Given the description of an element on the screen output the (x, y) to click on. 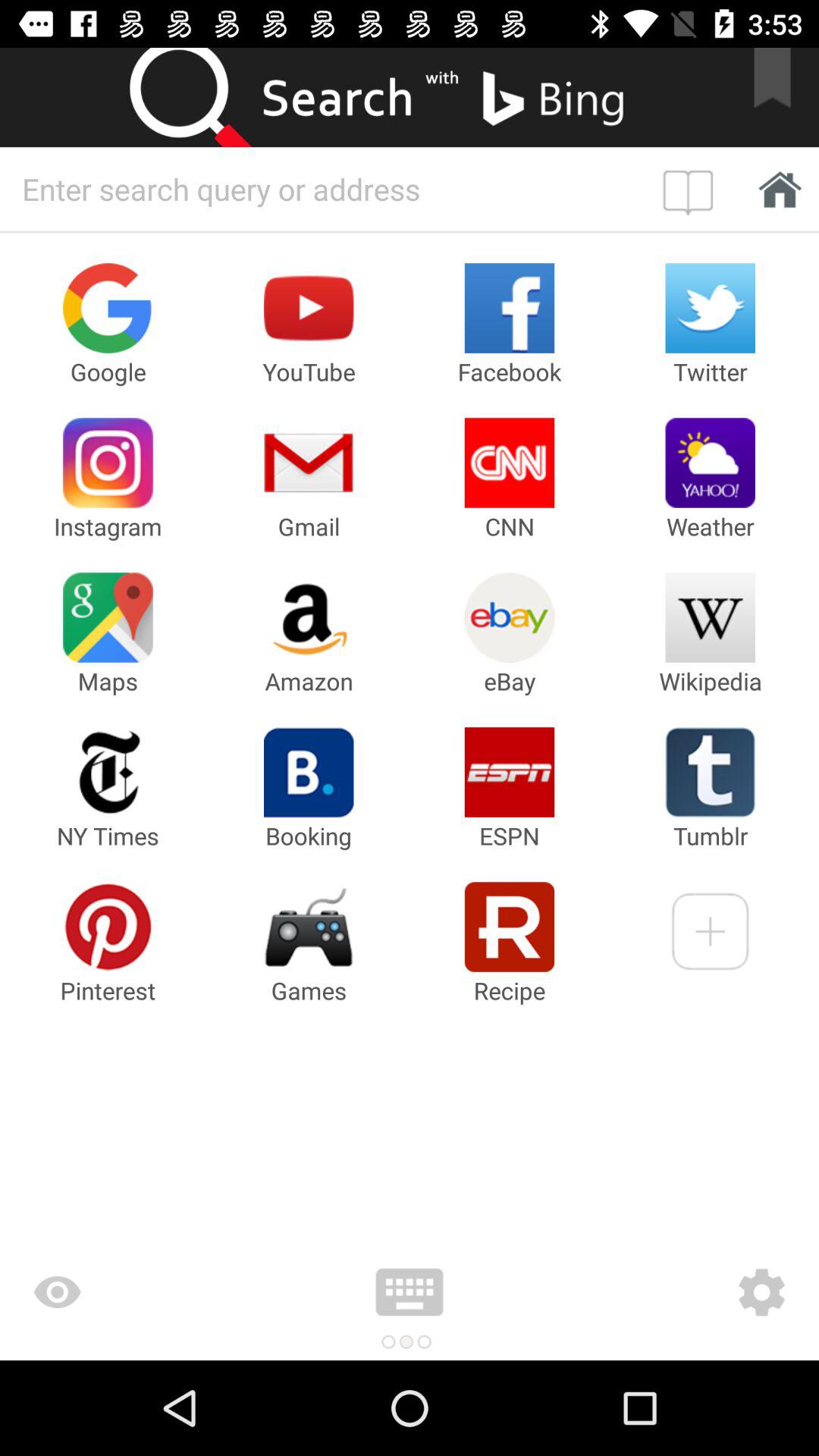
bookmark query (691, 188)
